Given the description of an element on the screen output the (x, y) to click on. 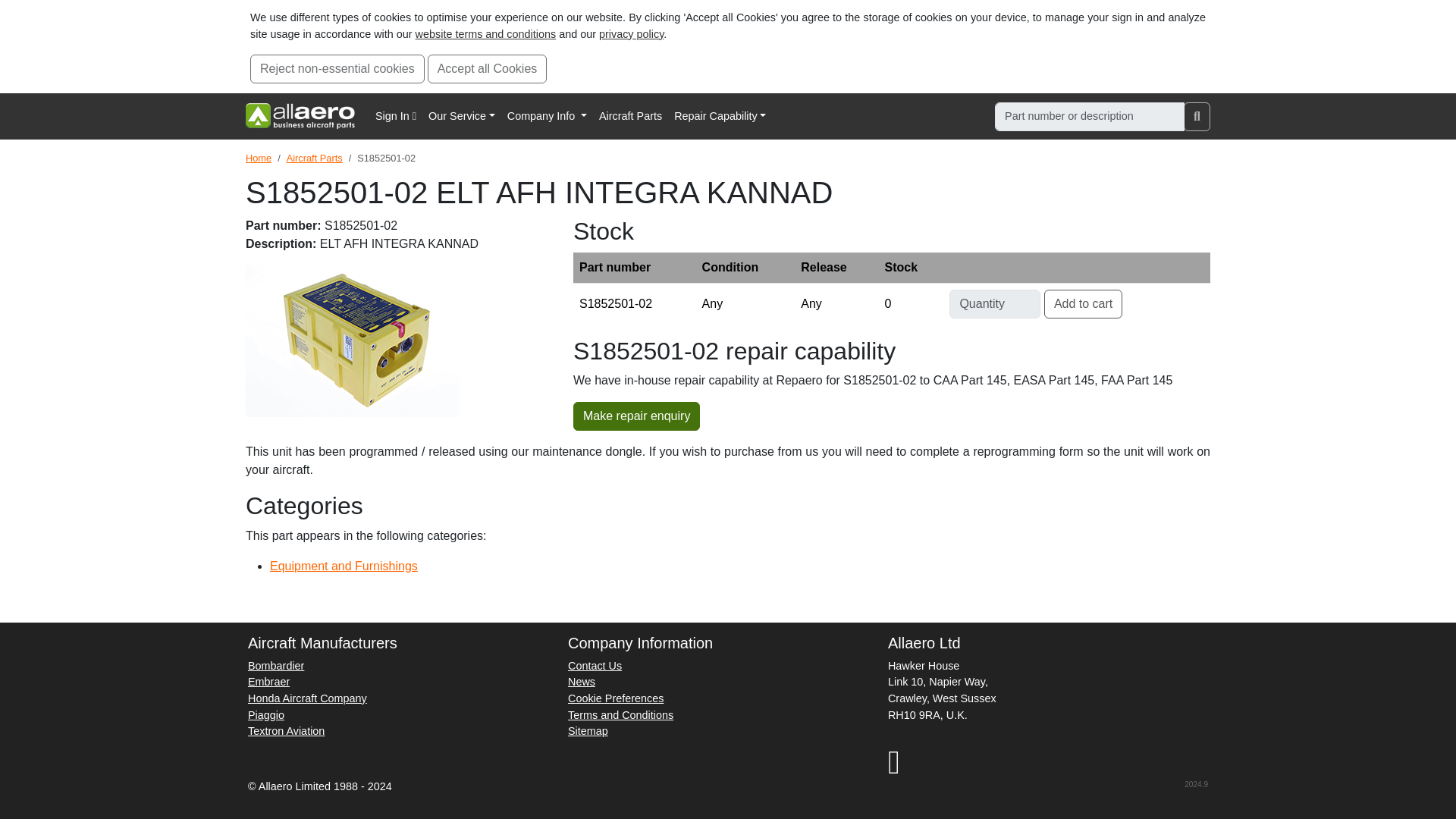
Aircraft Parts (630, 116)
privacy policy (630, 33)
website terms and conditions (485, 33)
Company Info (546, 116)
Repair Capability (719, 116)
Reject non-essential cookies (337, 68)
Our Service (461, 116)
Sign In (395, 116)
Accept all Cookies (487, 68)
